Given the description of an element on the screen output the (x, y) to click on. 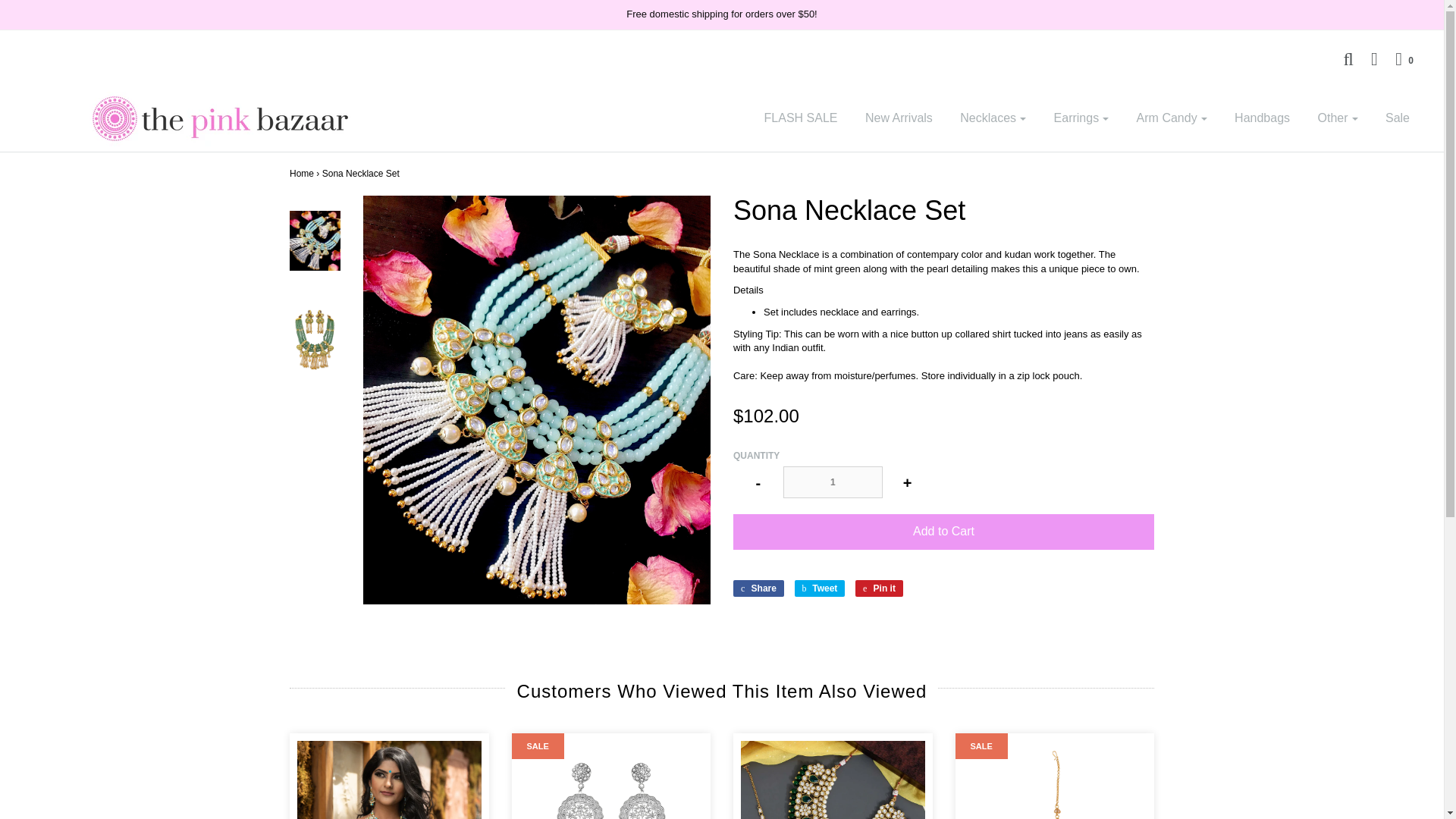
1 (832, 481)
Rita Earrings (610, 780)
Tweet (819, 588)
Henna Necklace Set (832, 780)
Other (1337, 118)
Sona Necklace Set - The Pink Bazaar (314, 239)
Diti Tikka Set (1054, 780)
New Arrivals (898, 118)
0 (1396, 58)
FLASH SALE (800, 118)
Arm Candy (1171, 118)
Your Cart (1396, 58)
Home (301, 173)
Log in (1366, 58)
Sitara Necklace Set (389, 780)
